Given the description of an element on the screen output the (x, y) to click on. 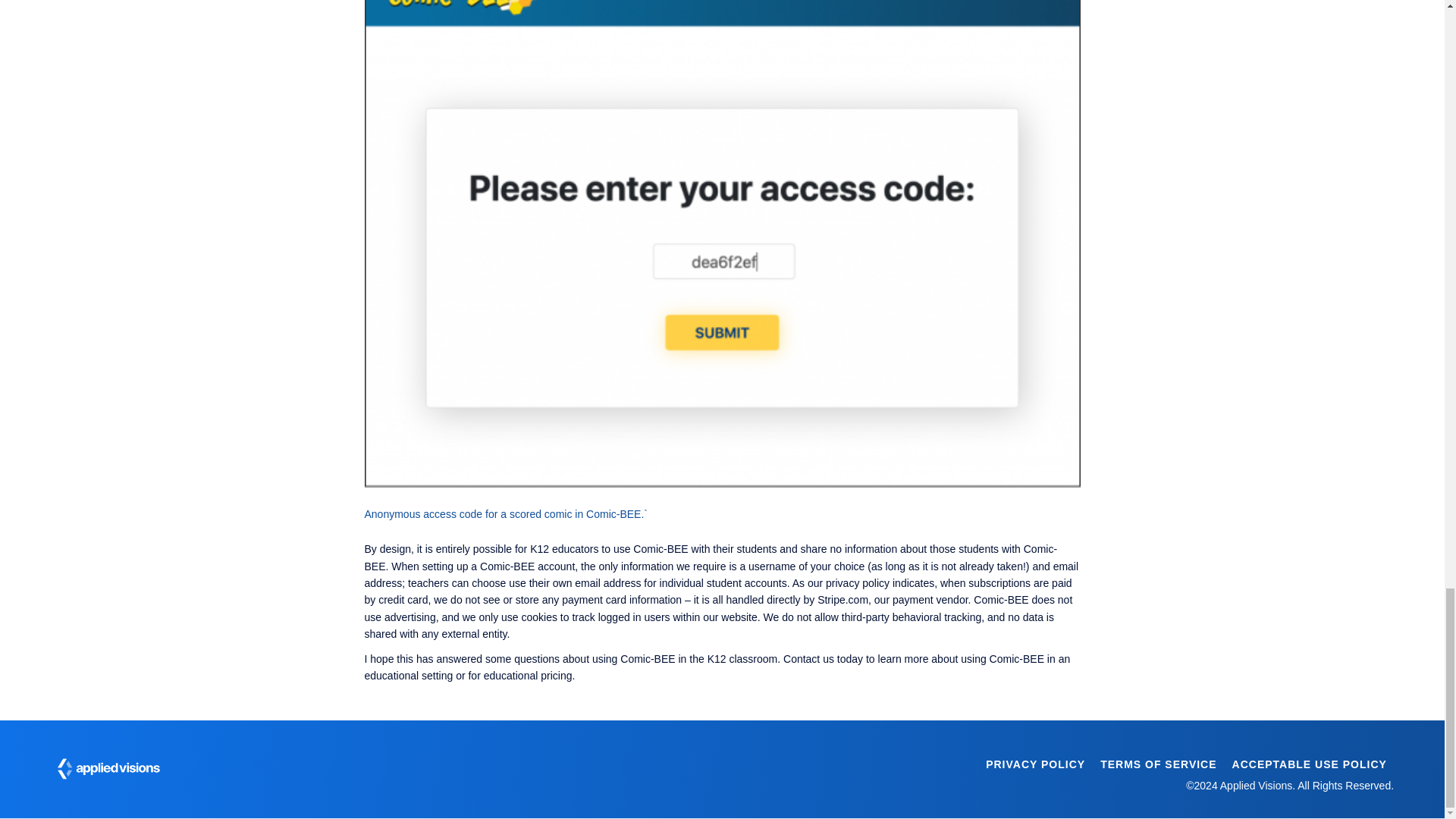
PRIVACY POLICY (1034, 764)
ACCEPTABLE USE POLICY (1309, 764)
TERMS OF SERVICE (1157, 764)
